Given the description of an element on the screen output the (x, y) to click on. 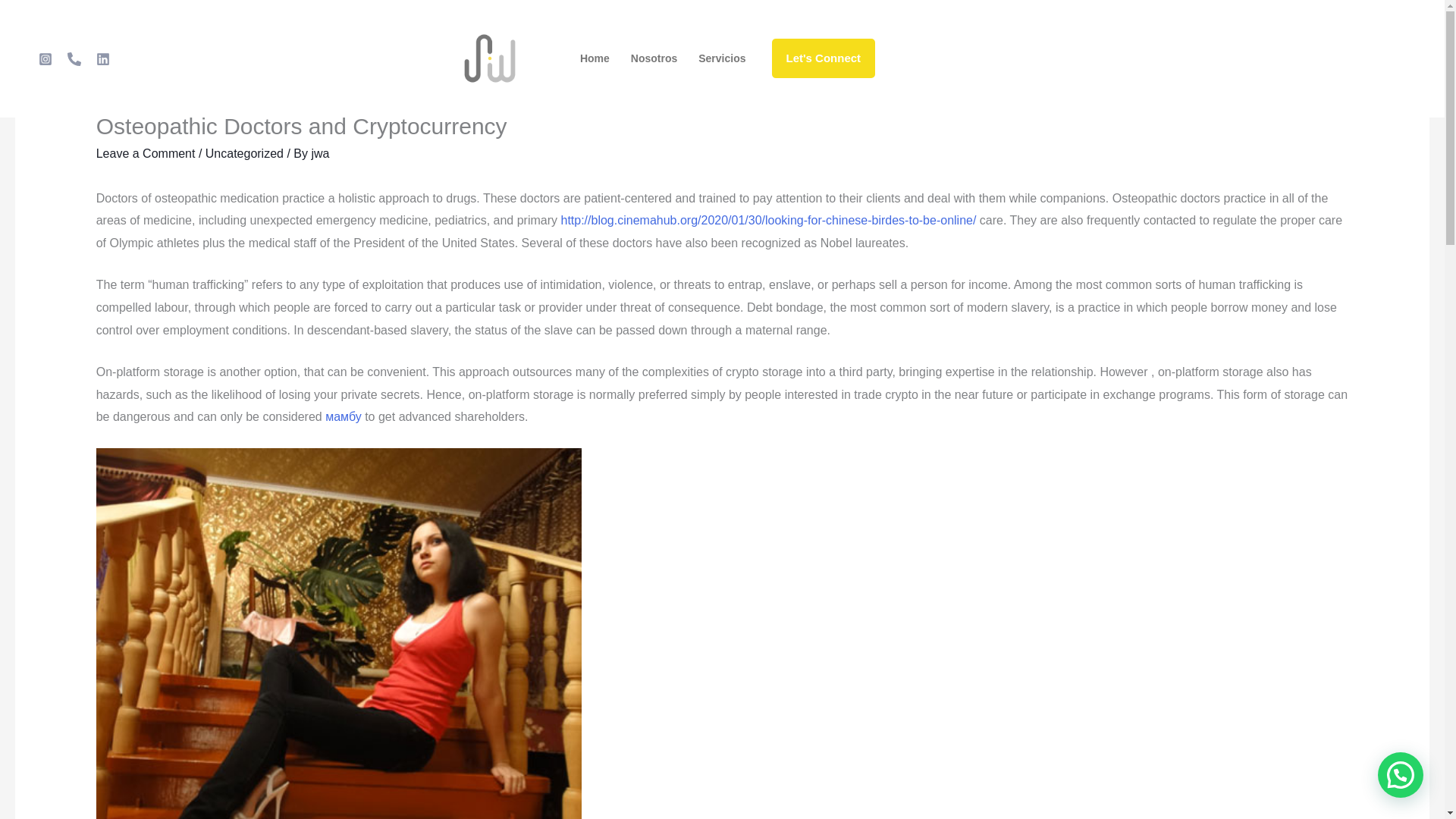
Let's Connect (823, 57)
Nosotros (653, 58)
Home (594, 58)
Leave a Comment (145, 153)
Servicios (721, 58)
Uncategorized (244, 153)
jwa (320, 153)
View all posts by jwa (320, 153)
